Given the description of an element on the screen output the (x, y) to click on. 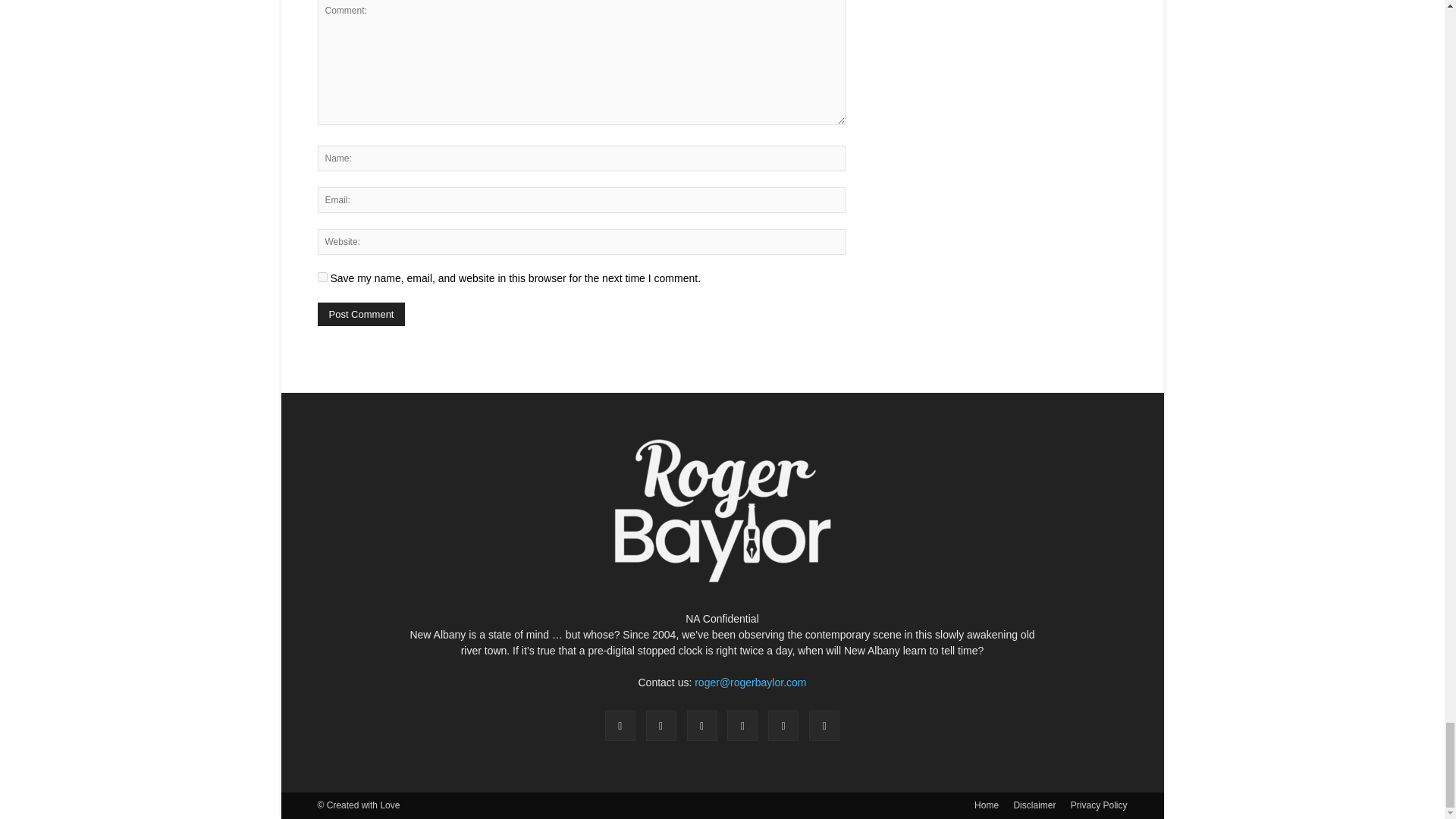
Post Comment (360, 313)
yes (321, 276)
